Given the description of an element on the screen output the (x, y) to click on. 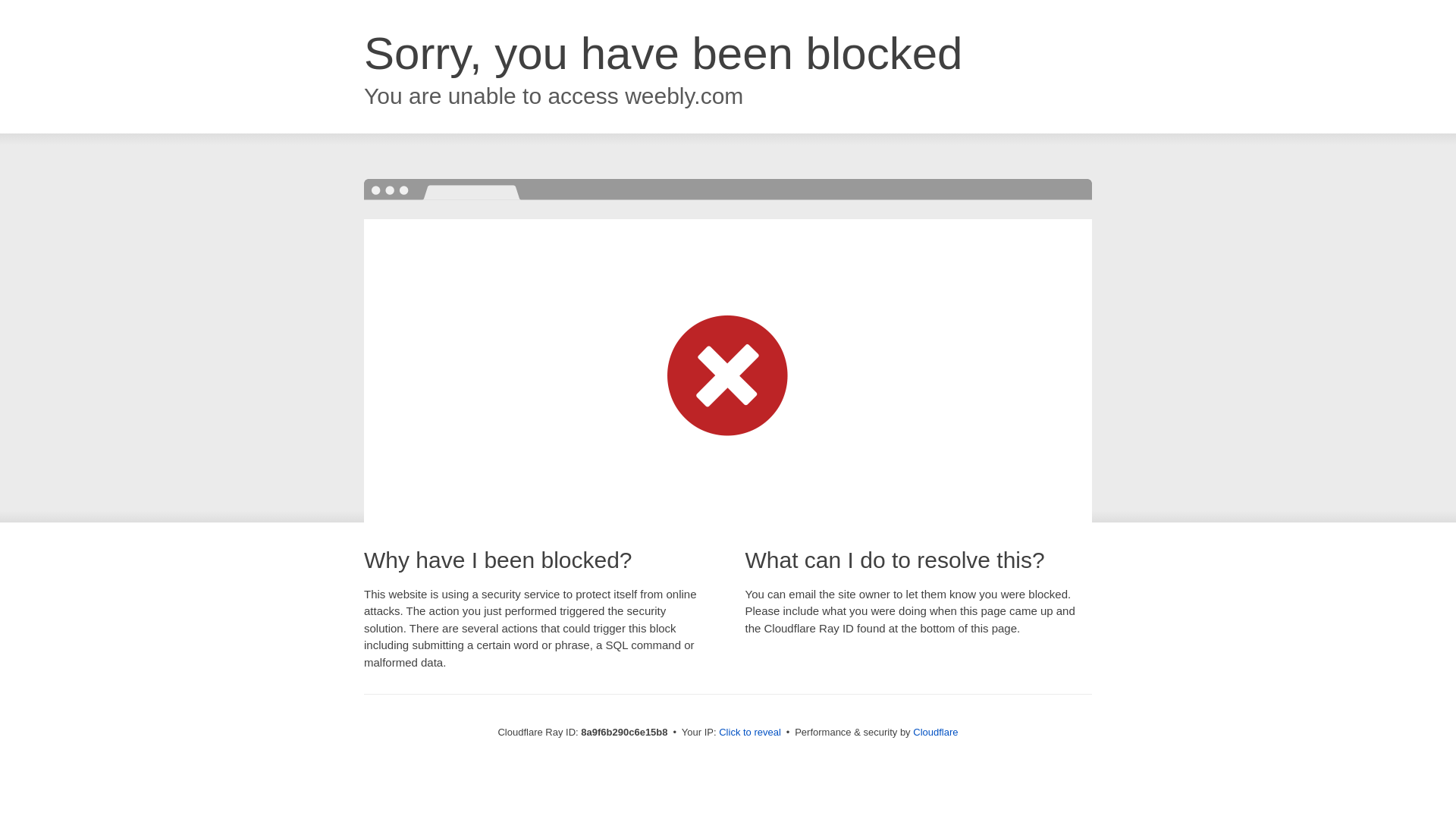
Cloudflare (935, 731)
Click to reveal (749, 732)
